Given the description of an element on the screen output the (x, y) to click on. 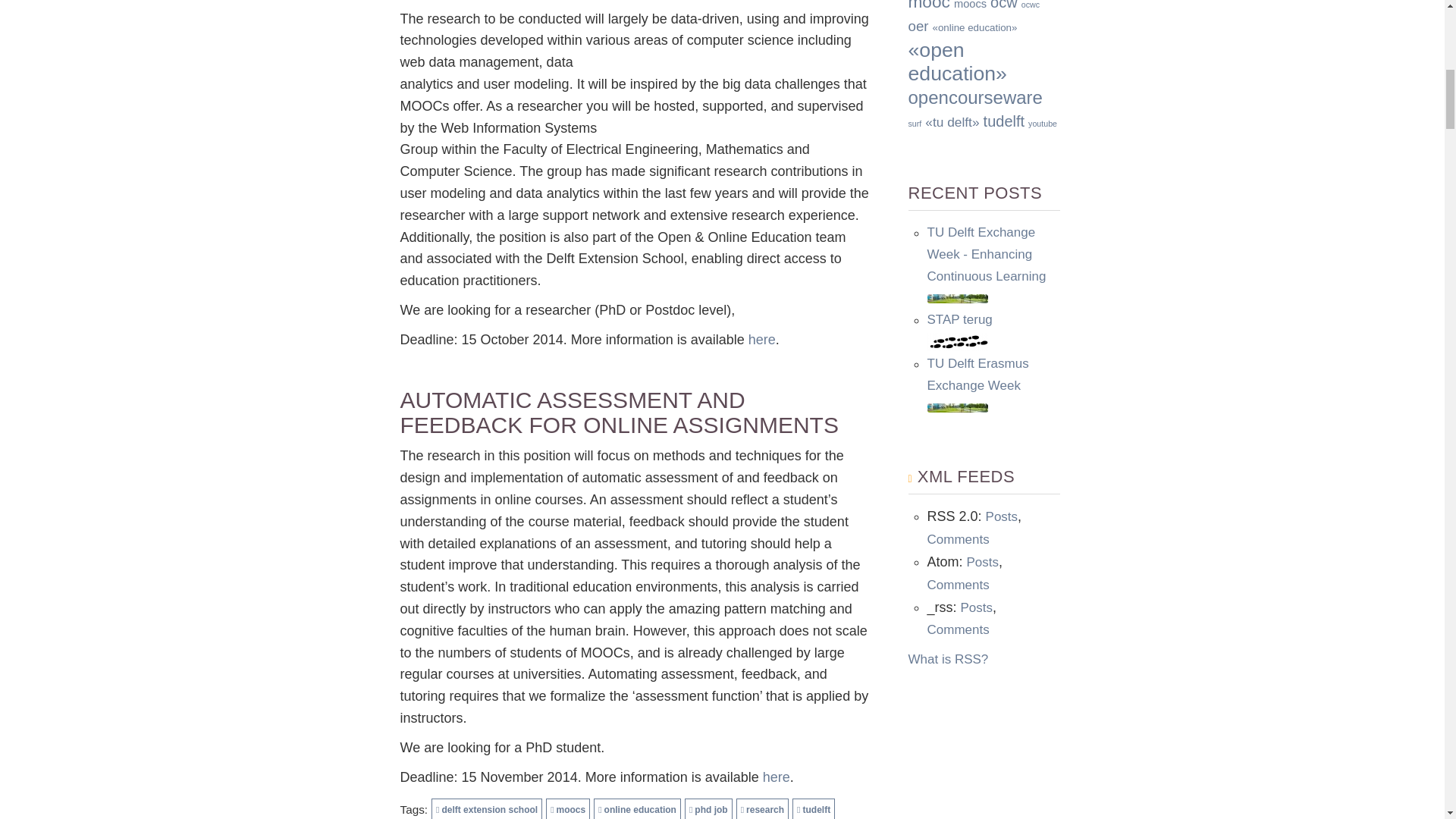
online education (637, 808)
here (776, 776)
tudelft (813, 808)
phd job (708, 808)
research (762, 808)
here (762, 339)
moocs (567, 808)
delft extension school (485, 808)
